Given the description of an element on the screen output the (x, y) to click on. 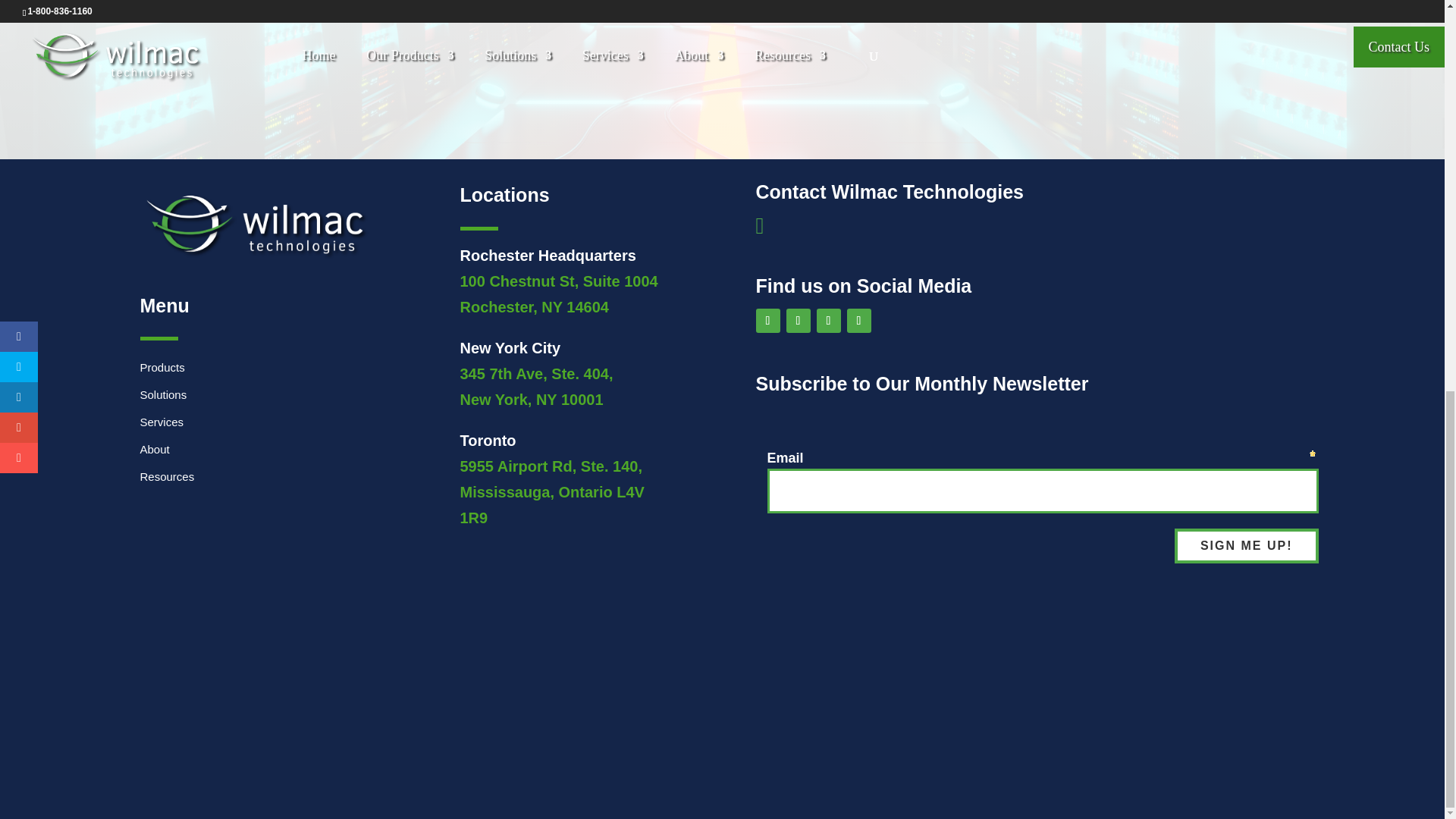
Follow on LinkedIn (766, 320)
Follow on Facebook (827, 320)
Follow on Youtube (797, 320)
Follow on X (857, 320)
